Given the description of an element on the screen output the (x, y) to click on. 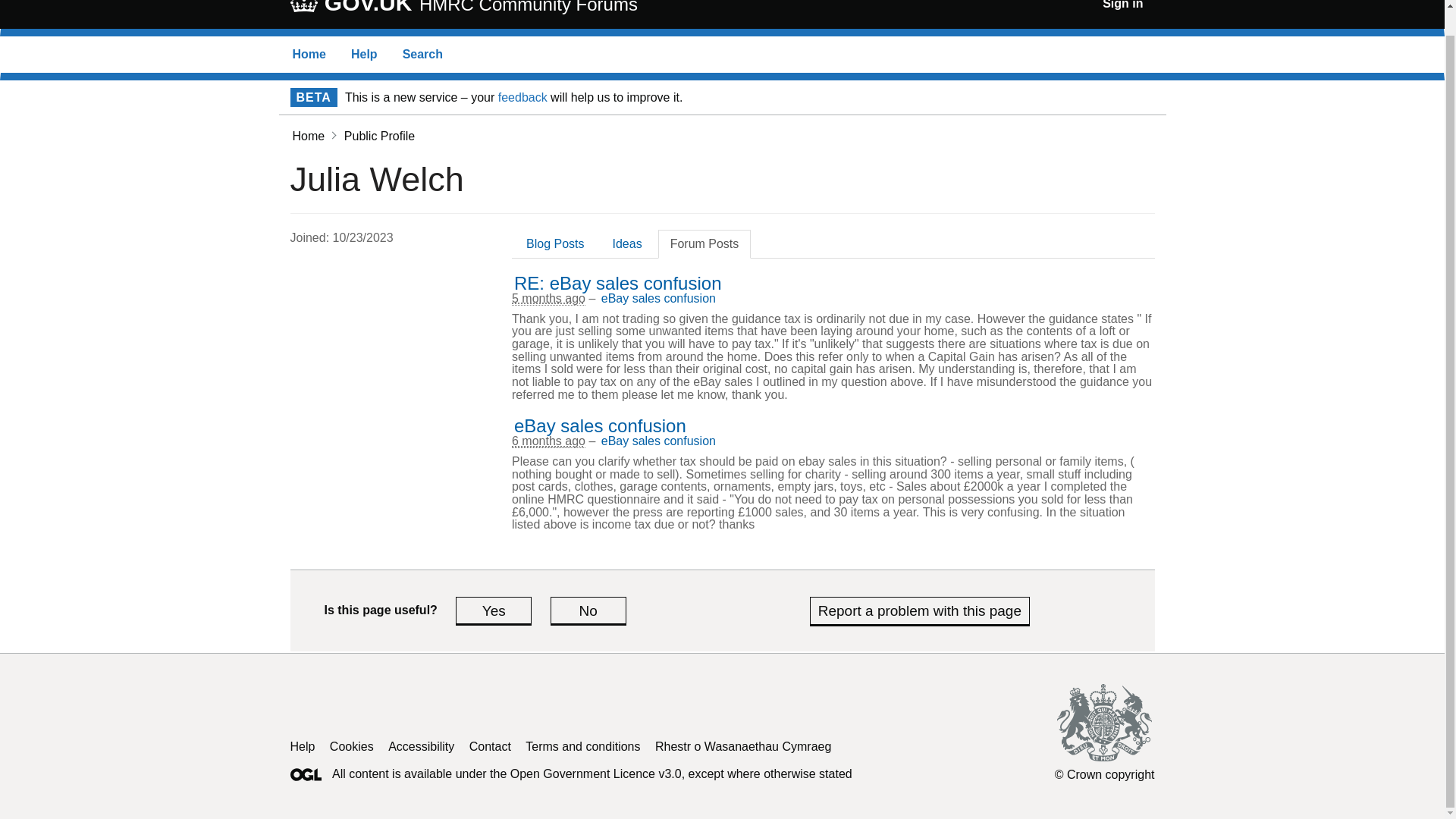
Help (363, 53)
Search (422, 53)
Sign in (1122, 4)
Accessibility (421, 746)
feedback (522, 97)
Help (588, 610)
eBay sales confusion (301, 746)
Forum Posts (658, 440)
eBay sales confusion (704, 243)
